Given the description of an element on the screen output the (x, y) to click on. 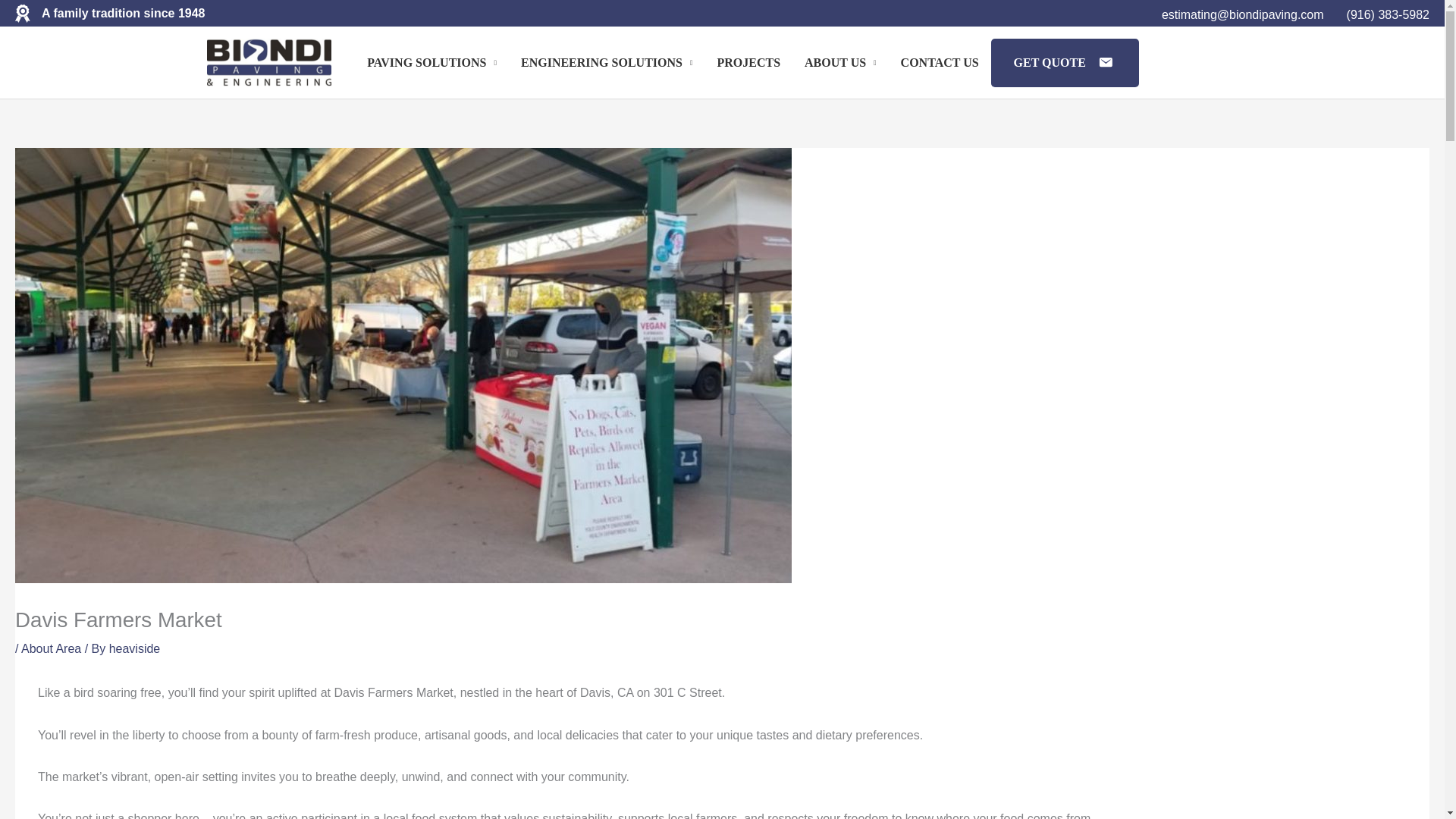
GET QUOTE (1064, 61)
View all posts by heaviside (134, 648)
PAVING SOLUTIONS (431, 61)
PROJECTS (748, 61)
ENGINEERING SOLUTIONS (606, 61)
CONTACT US (939, 61)
ABOUT US (840, 61)
